Given the description of an element on the screen output the (x, y) to click on. 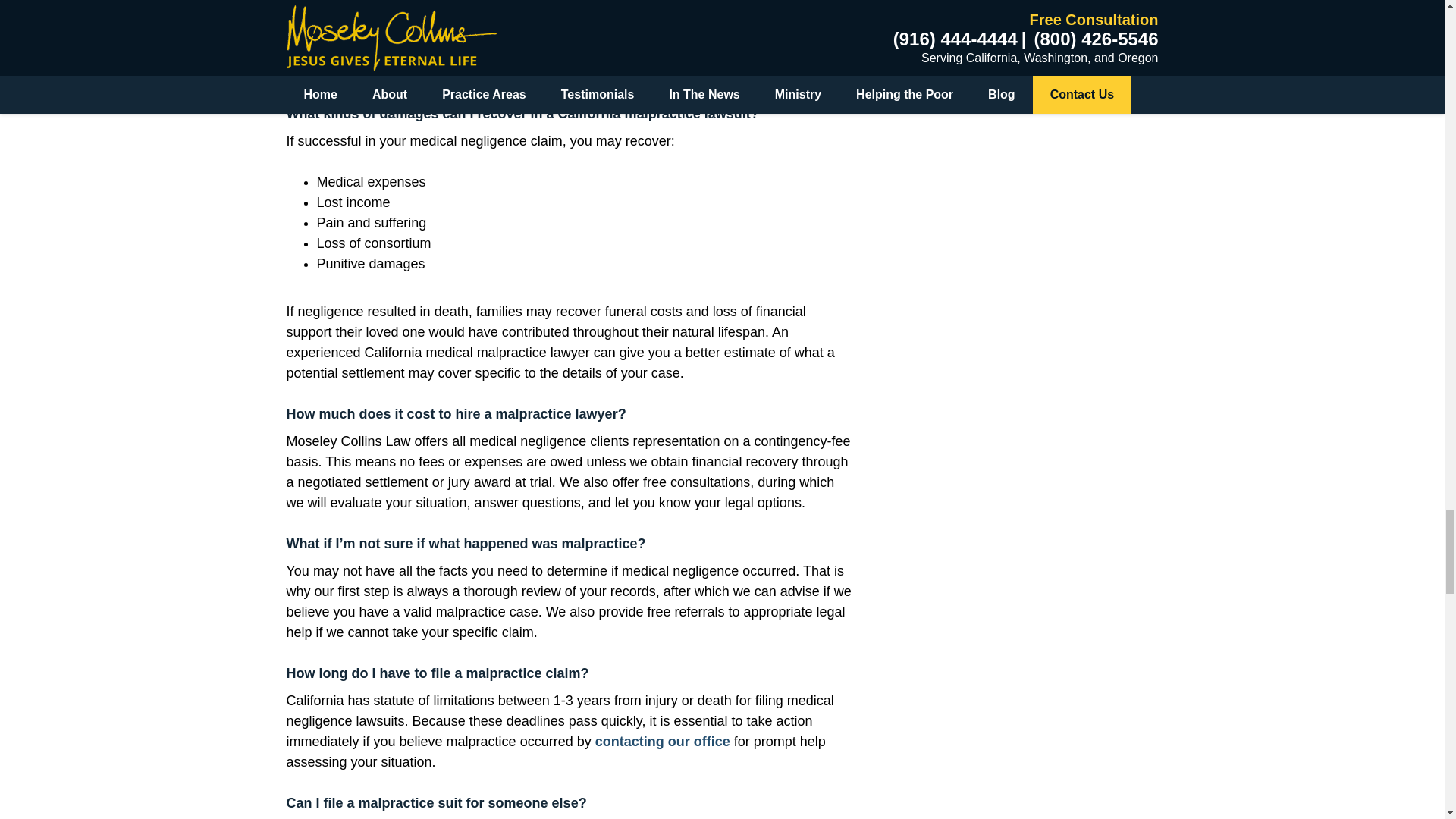
contacting our office (662, 741)
